Given the description of an element on the screen output the (x, y) to click on. 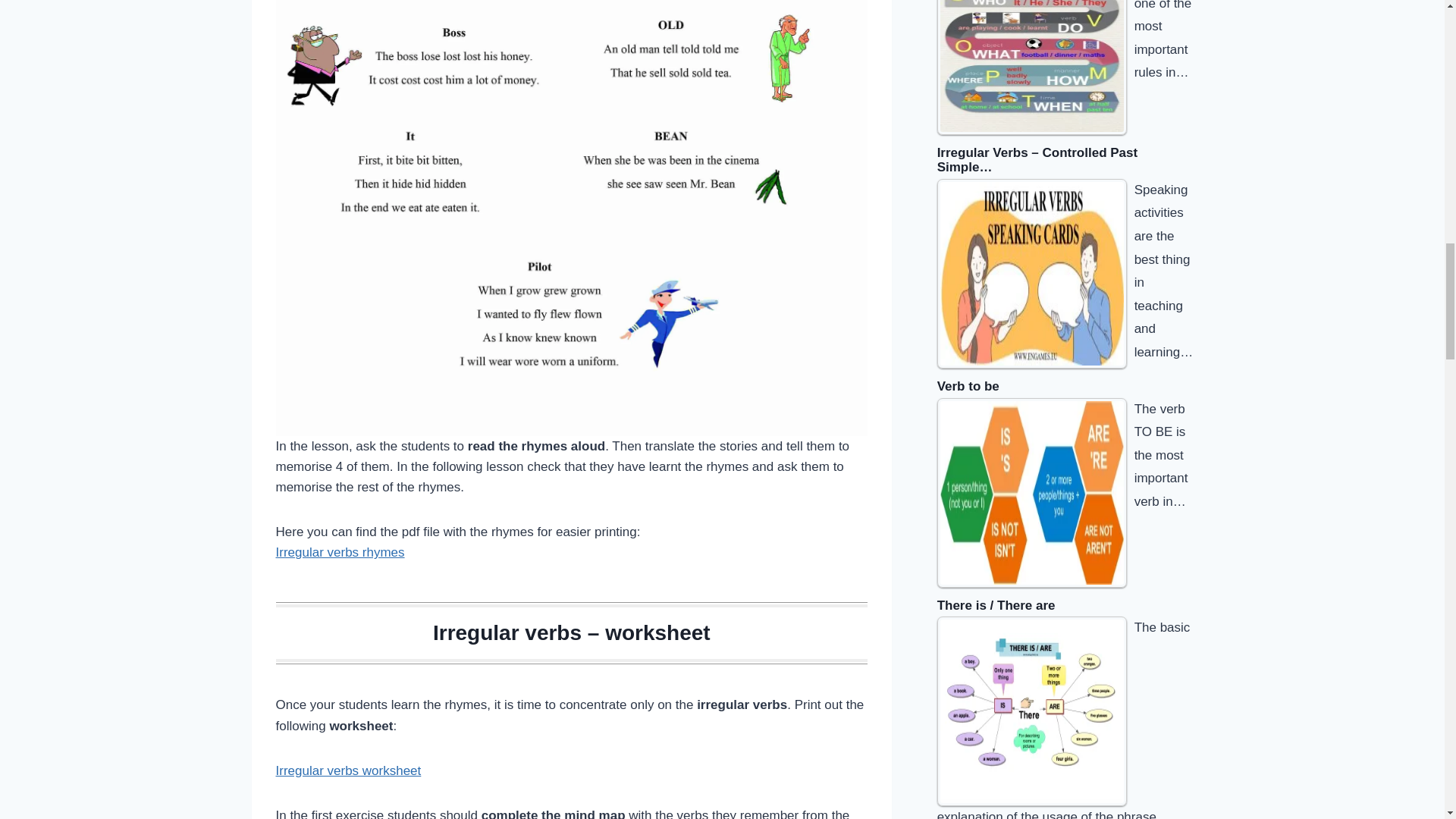
Irregular verbs rhymes (340, 552)
Irregular verbs worksheet (349, 770)
SVOMPT - word order in English (1031, 67)
